Given the description of an element on the screen output the (x, y) to click on. 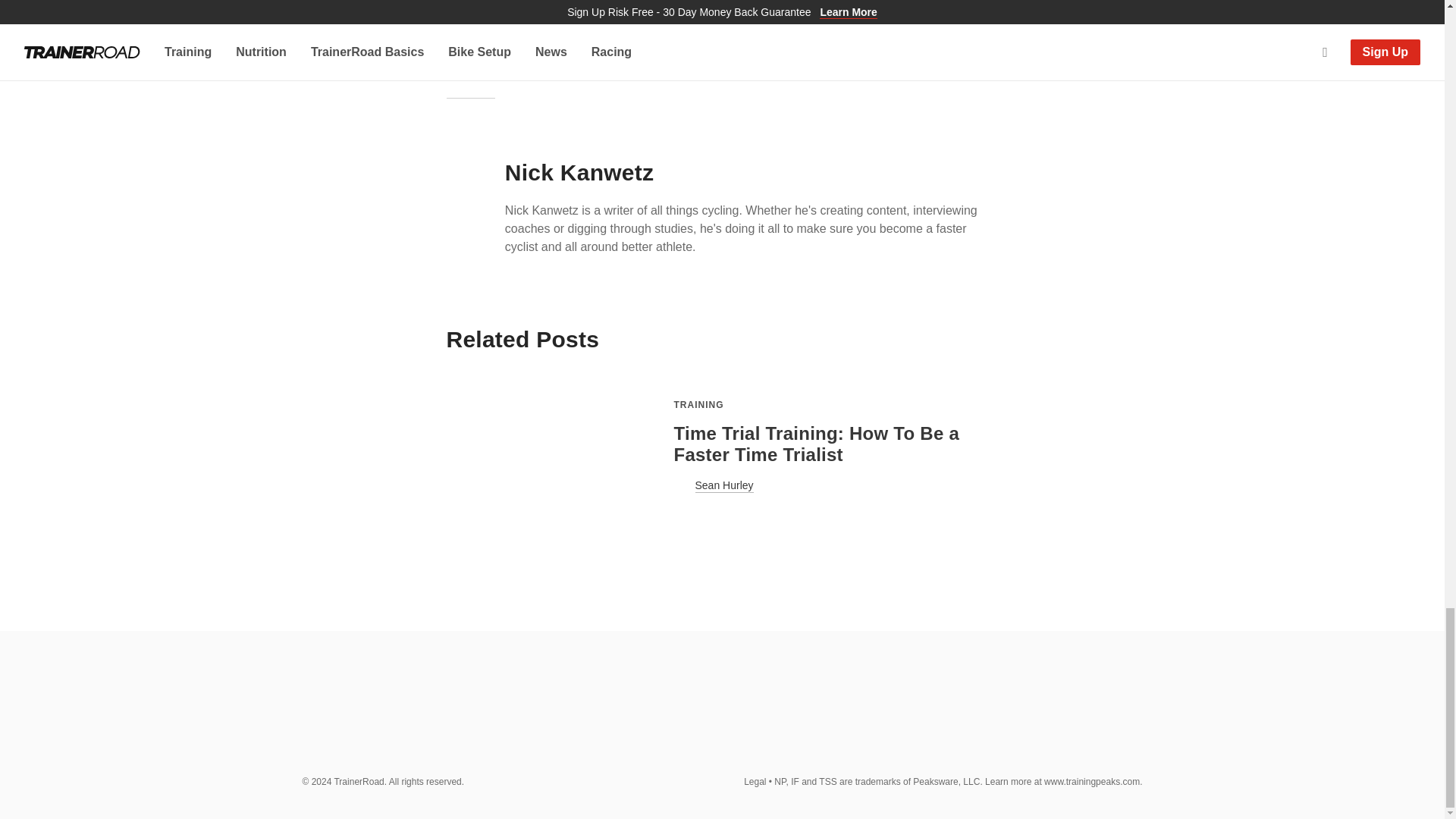
Follow TrainerRoad on Facebook (988, 717)
Specialty phase training (889, 8)
Subscribe to TrainerRoad on YouTube (1057, 717)
power-based training (753, 8)
training plan (761, 28)
training (688, 28)
indoor training (640, 8)
Sean Hurley (834, 485)
time trial (470, 28)
